Given the description of an element on the screen output the (x, y) to click on. 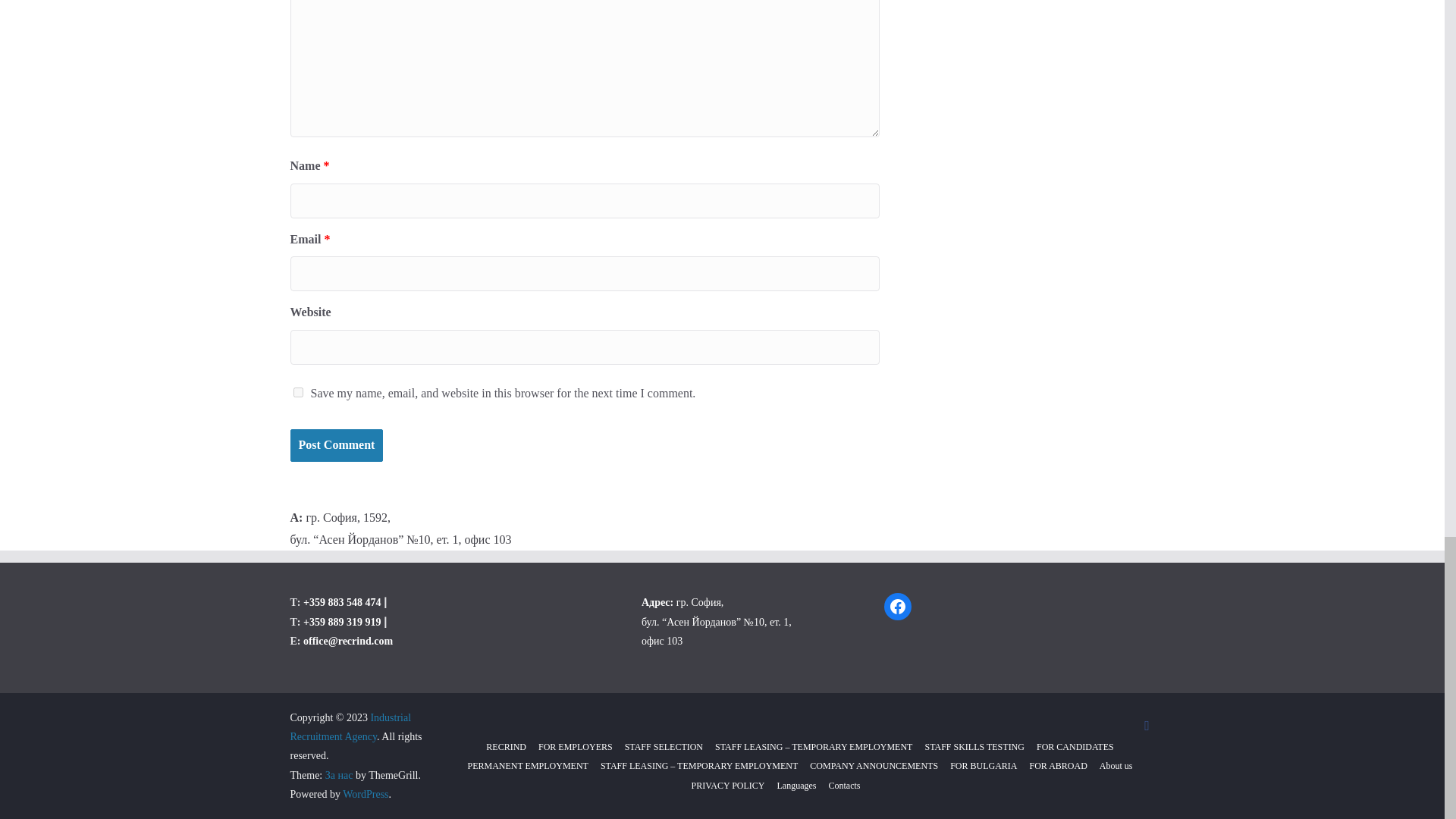
WordPress (365, 794)
Industrial Recruitment Agency (349, 726)
Post Comment (335, 445)
Post Comment (335, 445)
yes (297, 392)
